Given the description of an element on the screen output the (x, y) to click on. 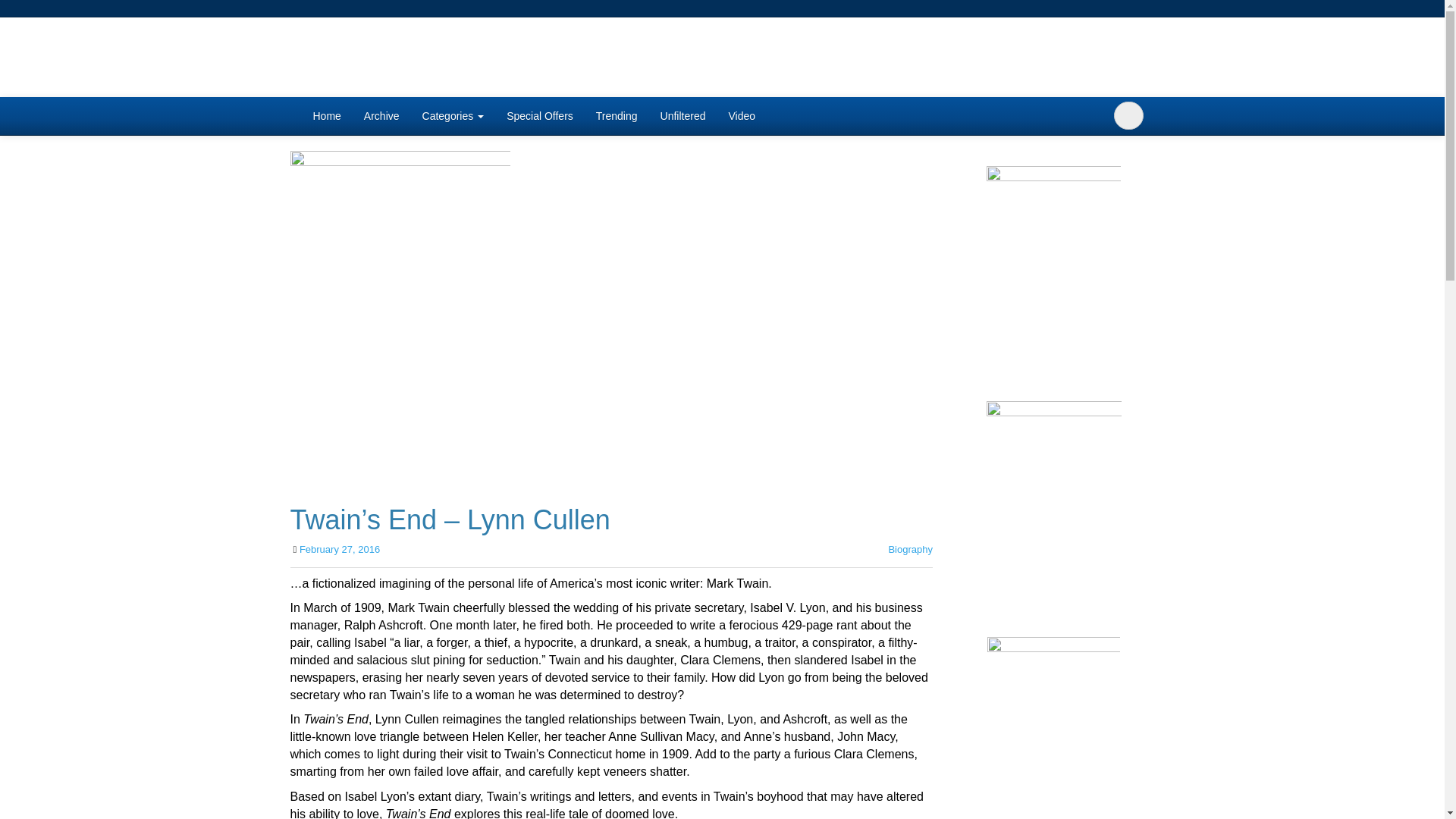
February 27, 2016 (339, 549)
Unfiltered (683, 116)
Trending (617, 116)
Archive (381, 116)
Biography (910, 549)
Special Offers (540, 116)
Categories (453, 116)
Home (326, 116)
12:05 am (339, 549)
Video (741, 116)
